Given the description of an element on the screen output the (x, y) to click on. 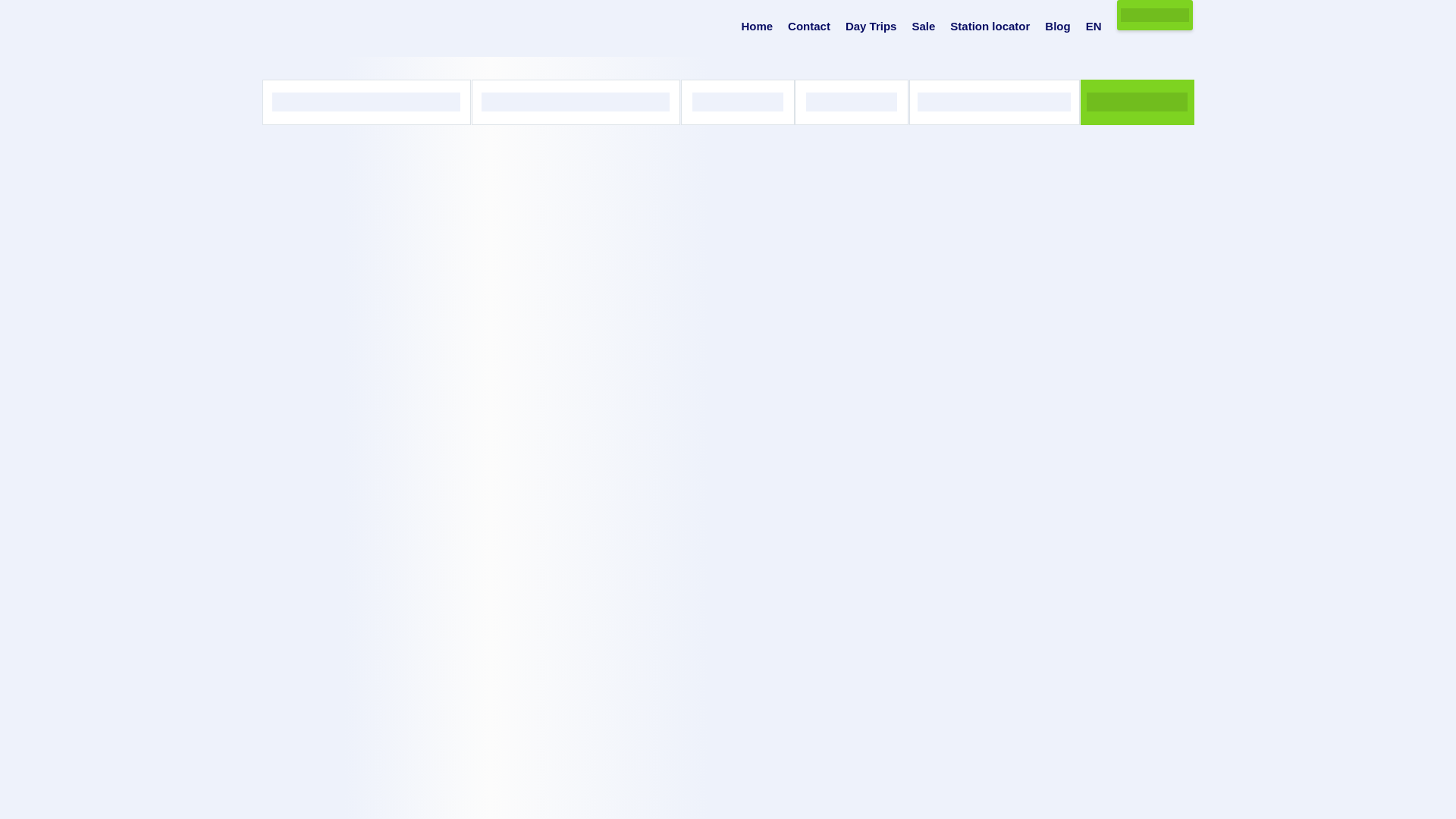
Station locator (989, 26)
Day Trips (870, 26)
